Given the description of an element on the screen output the (x, y) to click on. 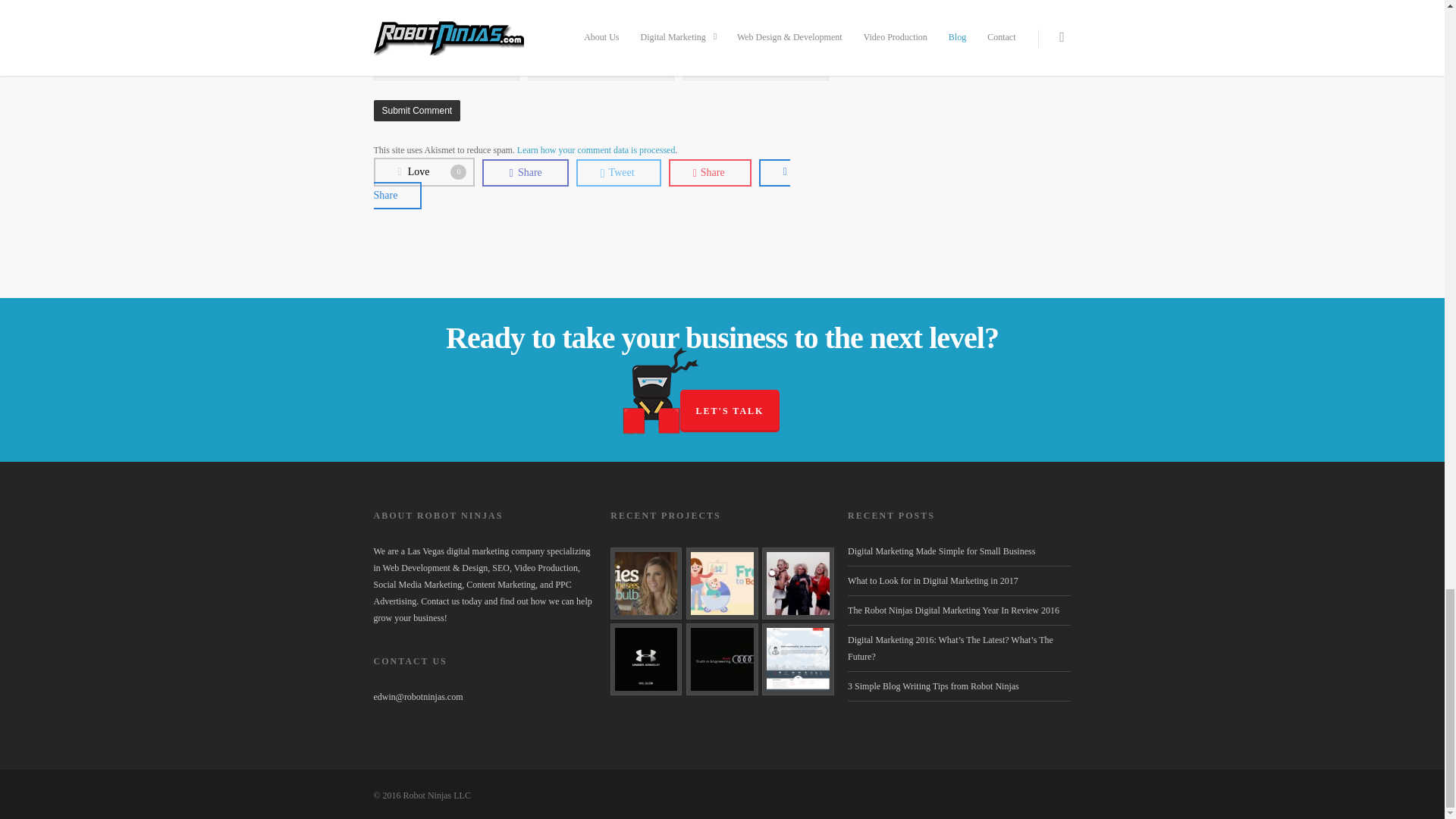
Auto Return Web Development (796, 658)
Share (524, 172)
Tweet (618, 172)
Share (580, 183)
The Original Boogie Buster Testimonial (645, 583)
Share this (580, 183)
Submit Comment (416, 110)
Tweet this (423, 172)
